Given the description of an element on the screen output the (x, y) to click on. 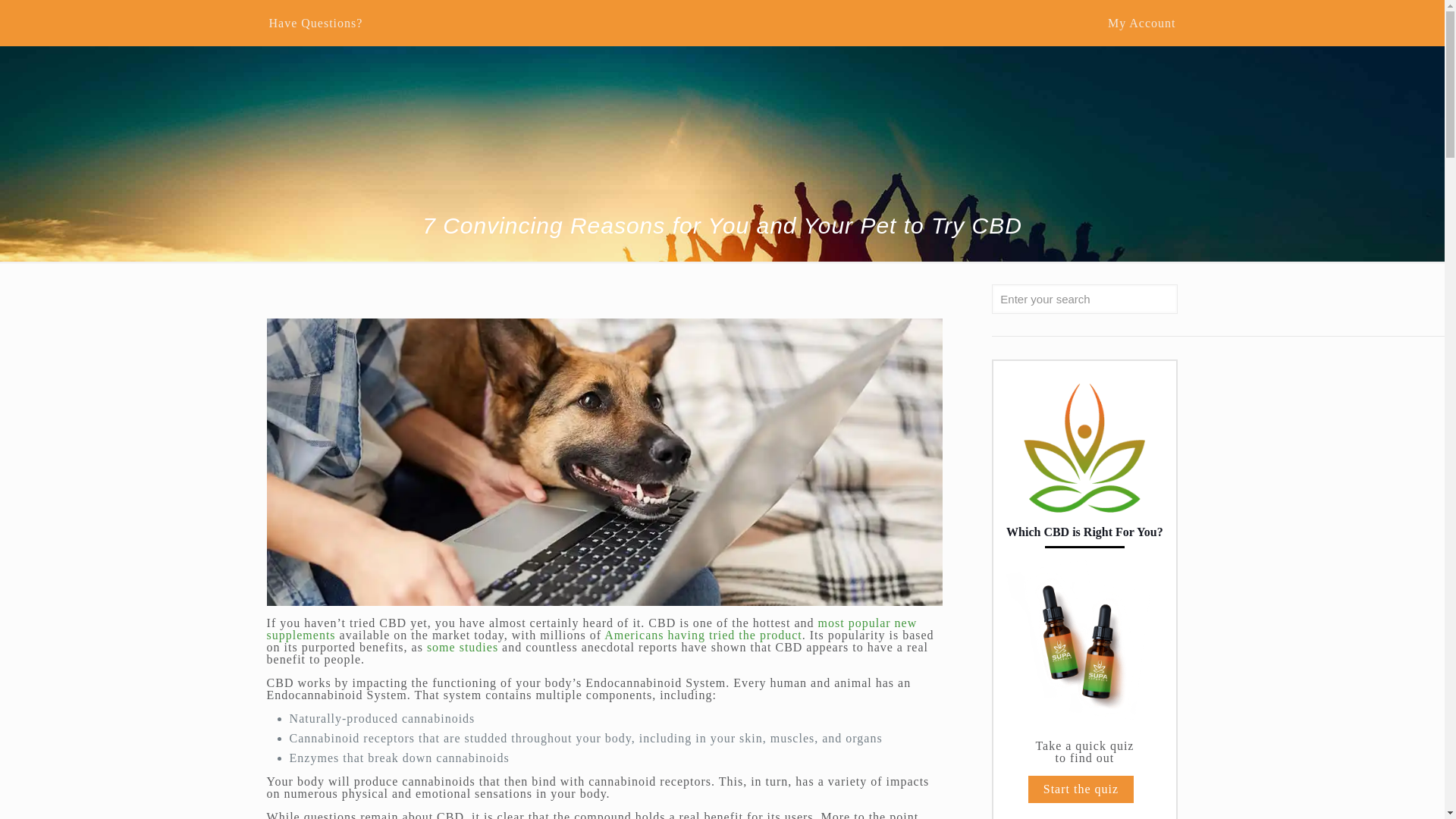
My Account (1142, 22)
Americans having tried the product (703, 634)
Have Questions? (314, 22)
most popular new supplements (591, 628)
some studies (461, 646)
